Given the description of an element on the screen output the (x, y) to click on. 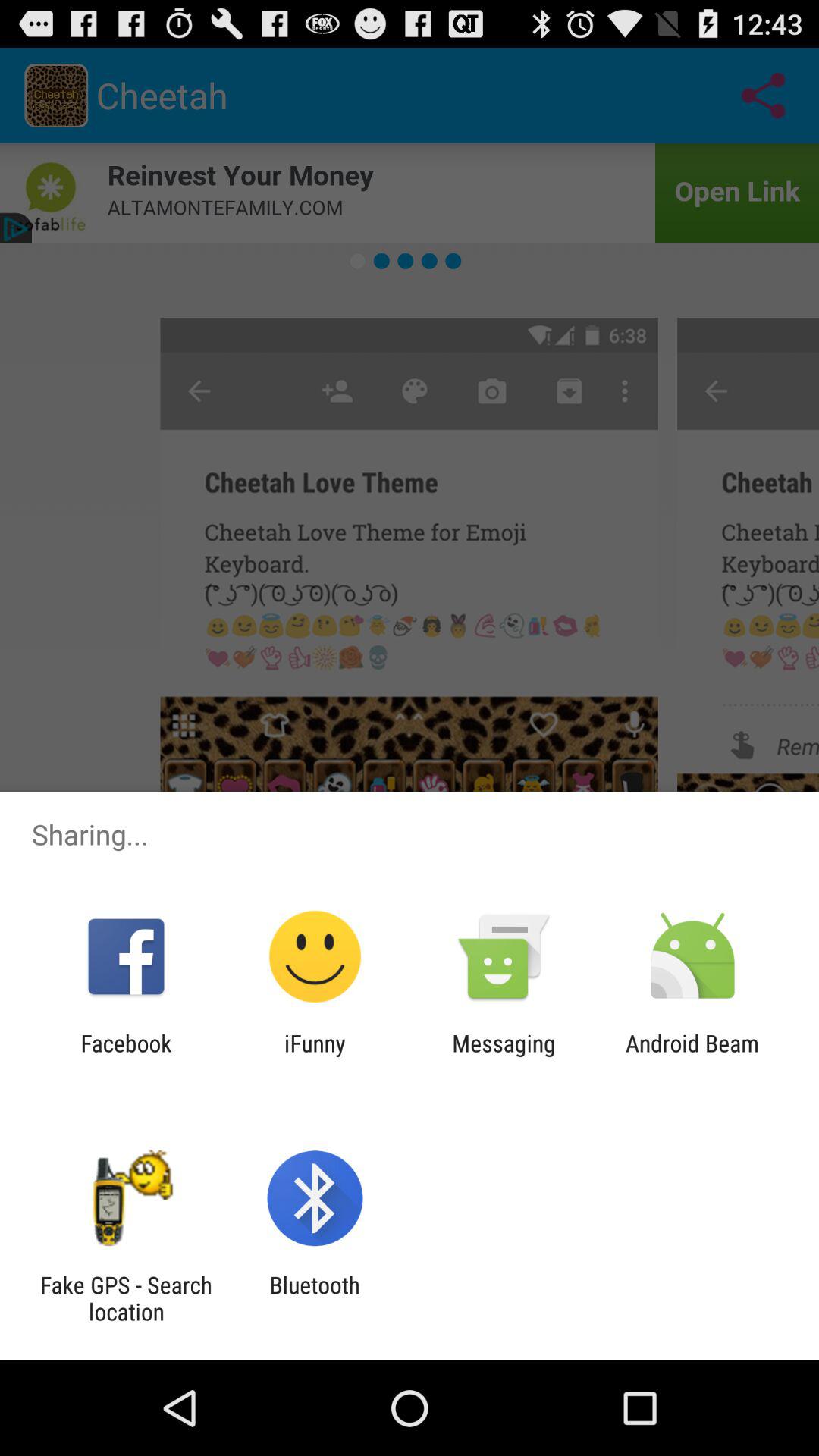
press the messaging (503, 1056)
